Given the description of an element on the screen output the (x, y) to click on. 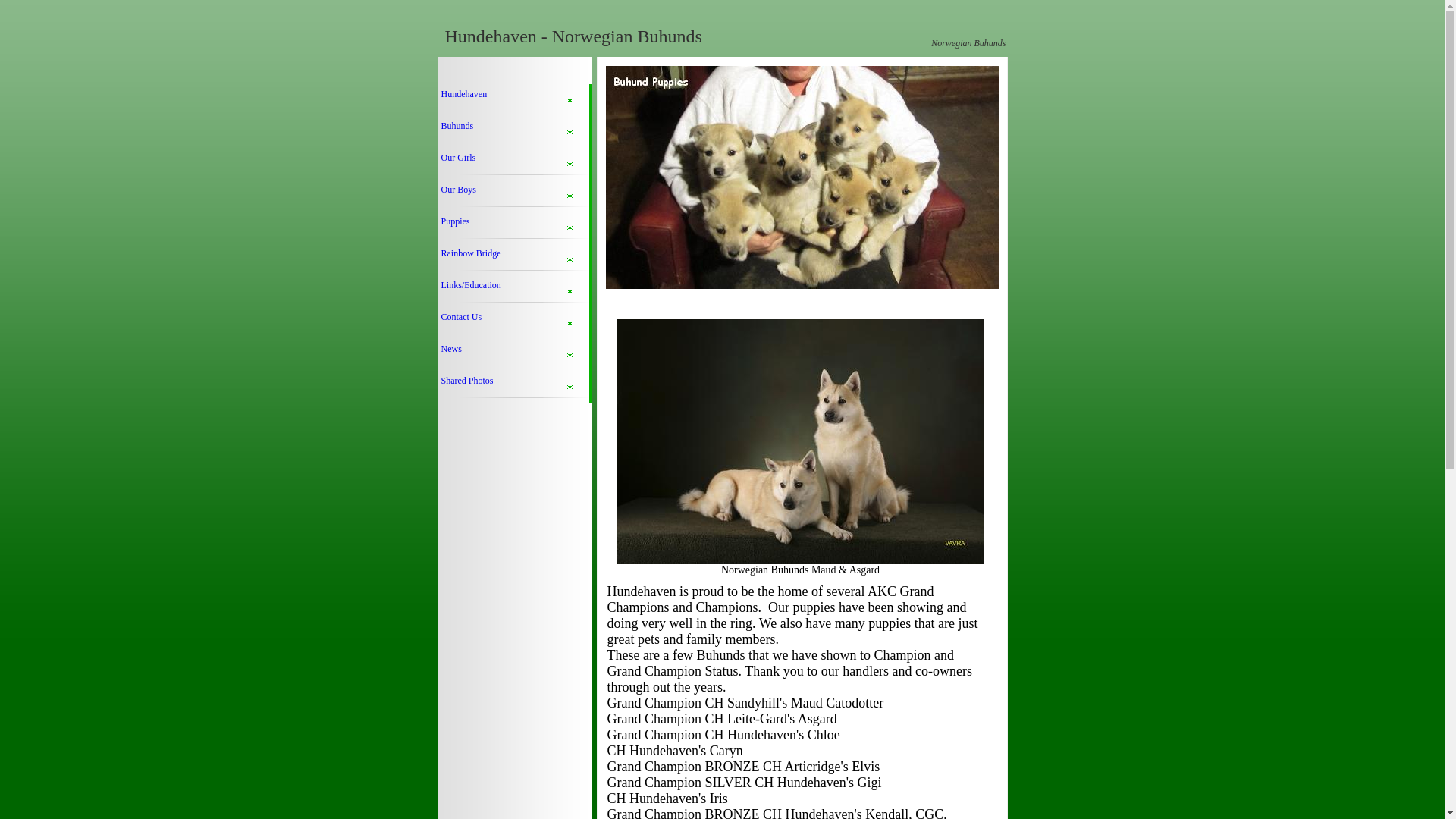
Our Boys (512, 195)
Puppies (512, 227)
Our Girls (512, 163)
Buhunds (512, 132)
Hundehaven (512, 100)
